Given the description of an element on the screen output the (x, y) to click on. 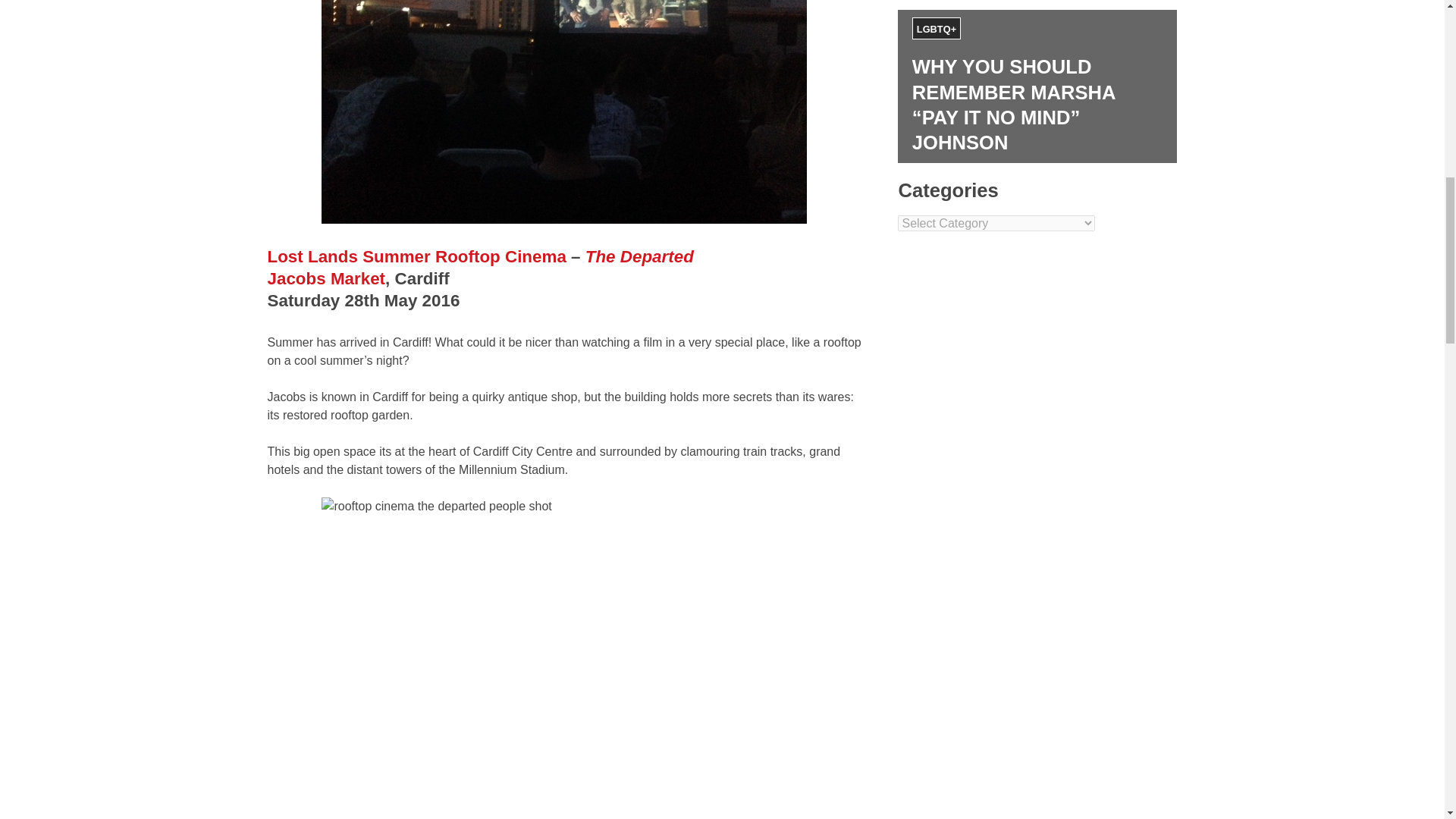
Lost Lands Summer Rooftop Cinema (416, 256)
The Departed (639, 256)
Jacobs Market (325, 278)
